Given the description of an element on the screen output the (x, y) to click on. 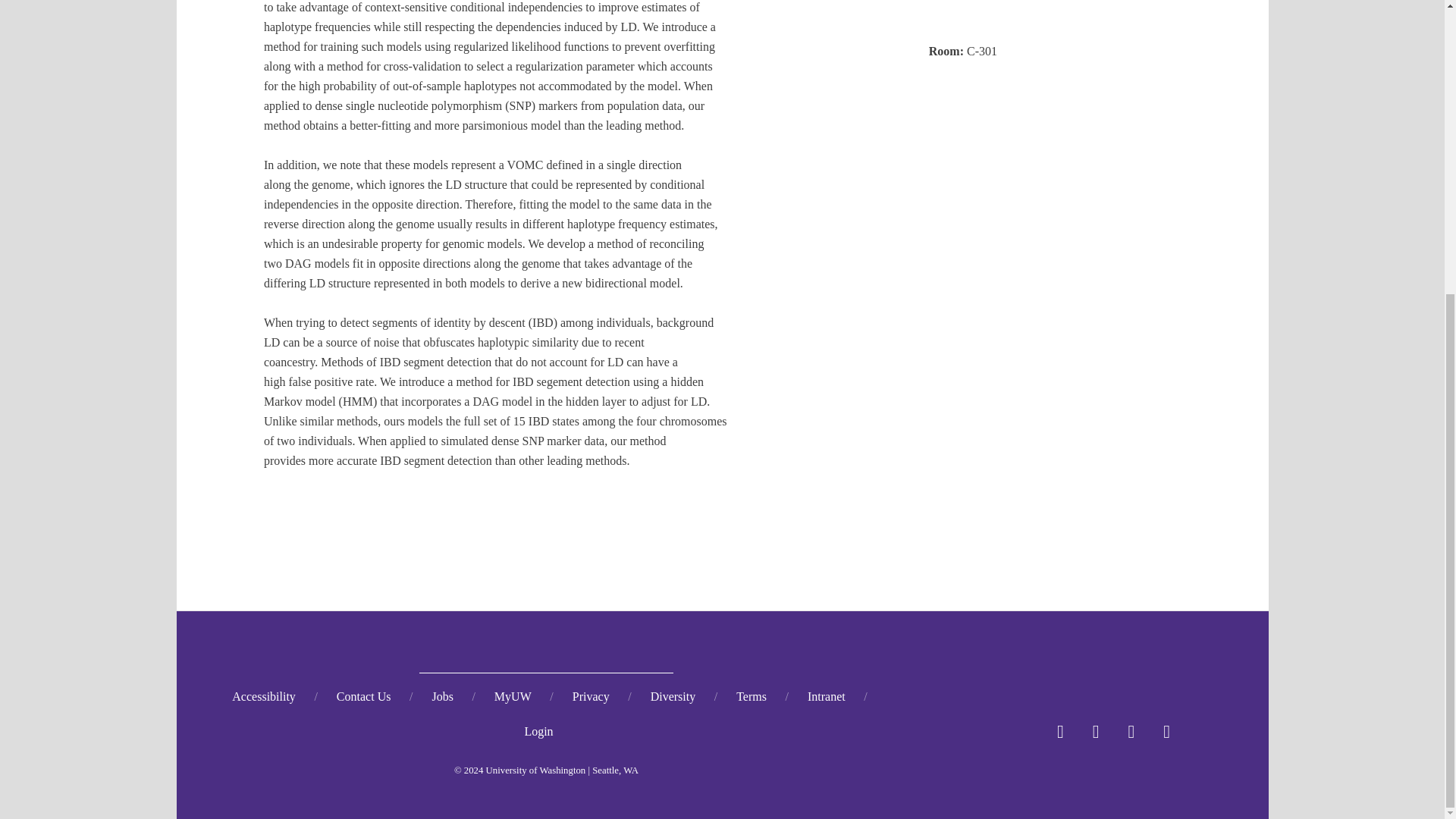
No contact module (363, 696)
Go to Terms Homepage (751, 696)
Go to MyUW Homepage (513, 696)
Padelford (1023, 18)
Go to Privacy Homepage (590, 696)
Department of Statistics Internal Intranet (826, 696)
Go to Accessibility Homepage (264, 696)
